Given the description of an element on the screen output the (x, y) to click on. 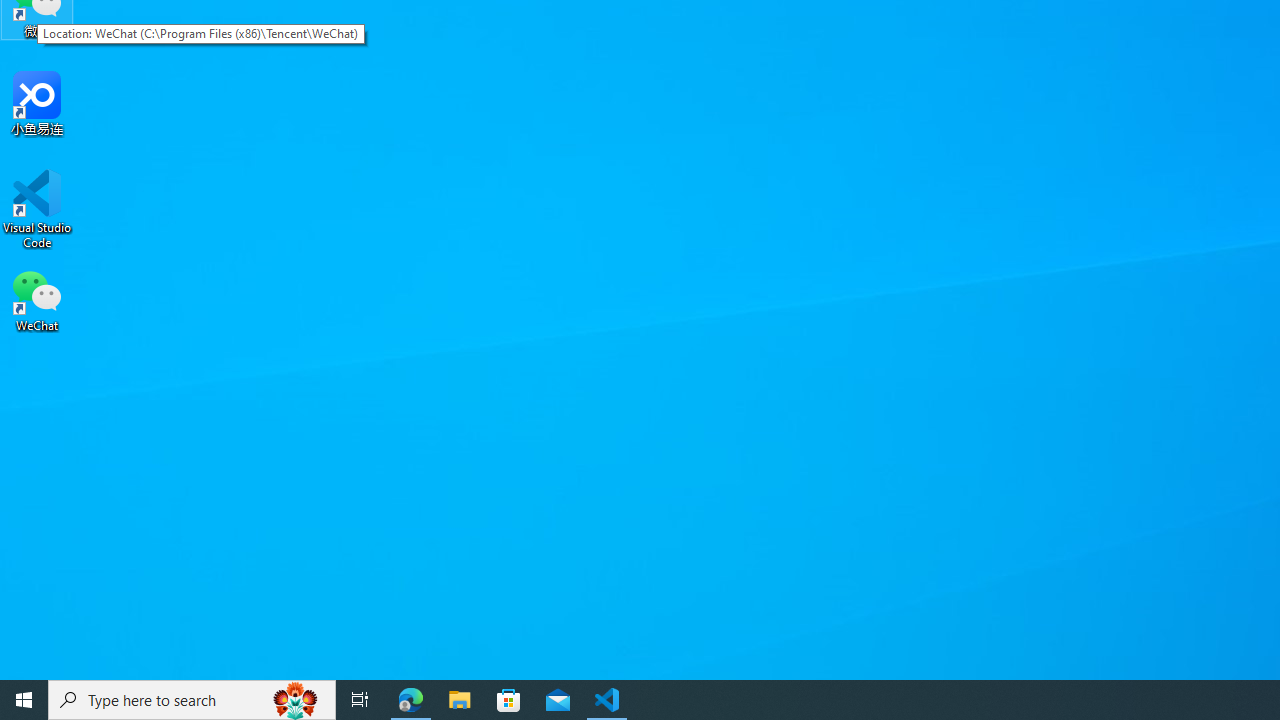
Visual Studio Code (37, 209)
WeChat (37, 299)
